Given the description of an element on the screen output the (x, y) to click on. 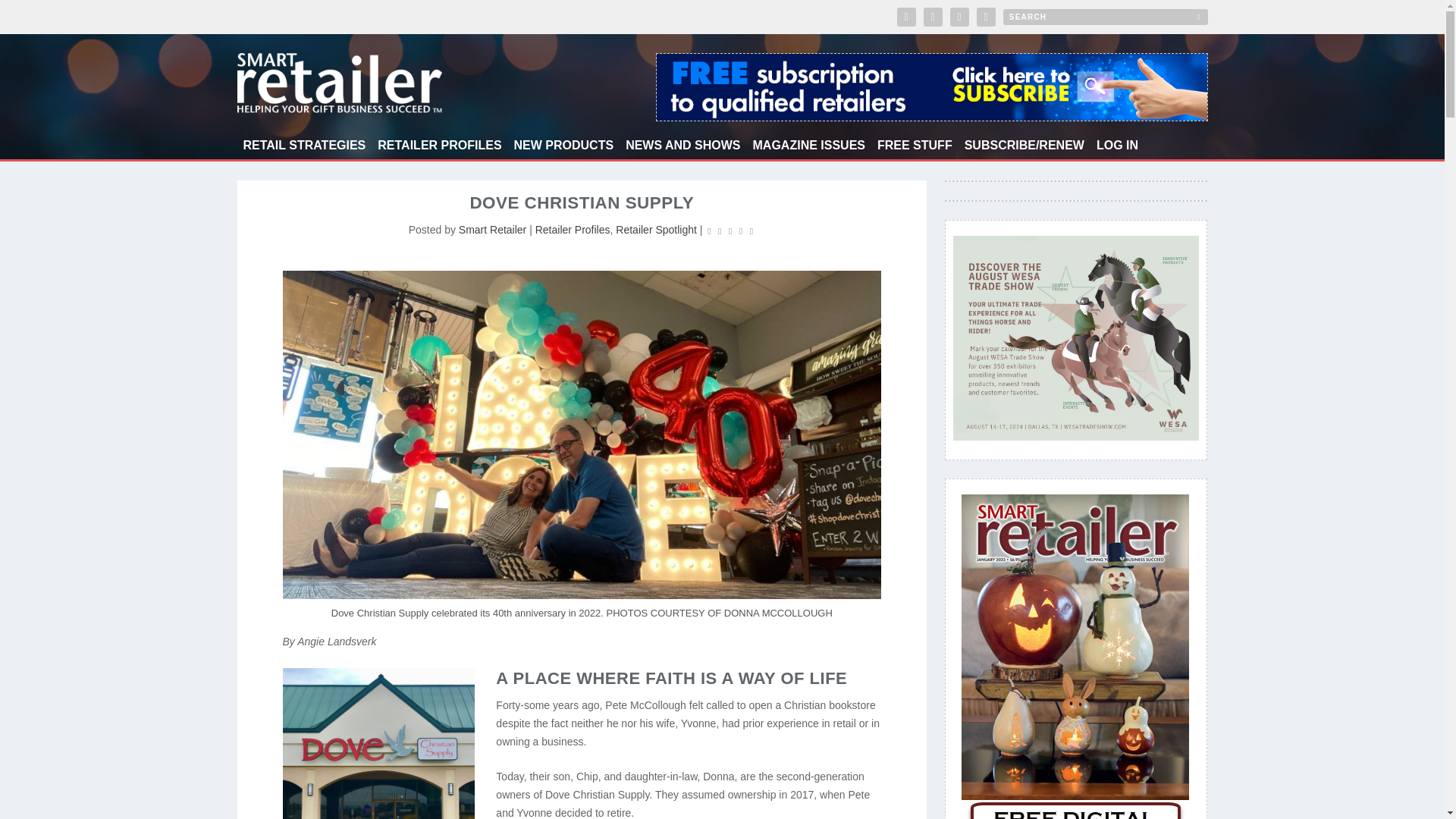
Retailer Spotlight (656, 229)
LOG IN (1117, 148)
NEWS AND SHOWS (682, 148)
RETAILER PROFILES (438, 148)
Search for: (1105, 17)
NEW PRODUCTS (563, 148)
Rating: 0.00 (729, 230)
Retailer Profiles (572, 229)
MAGAZINE ISSUES (808, 148)
RETAIL STRATEGIES (304, 148)
